Given the description of an element on the screen output the (x, y) to click on. 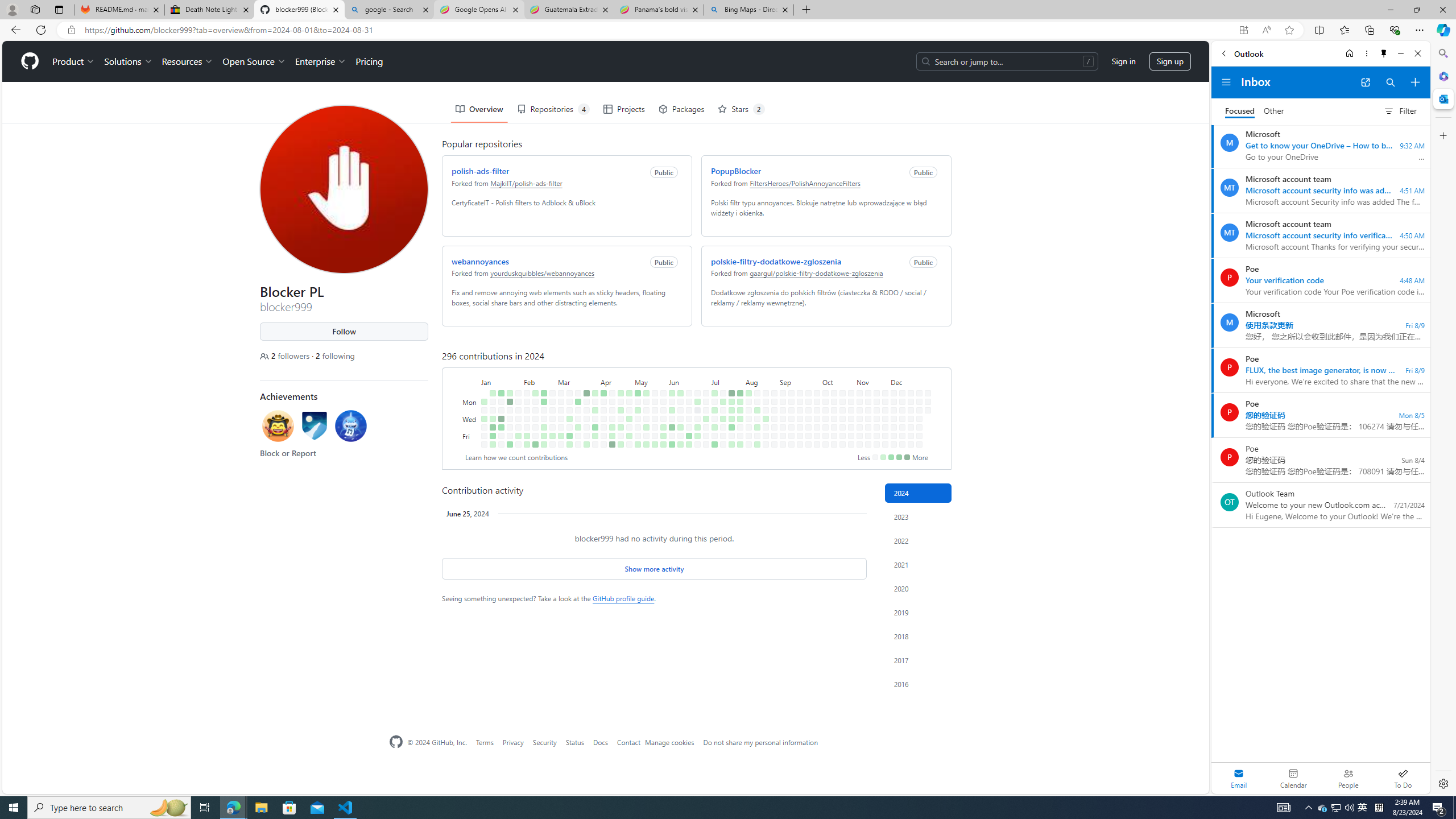
Events-Banner-Ad.jpg (848, 629)
propanama-whitepaper_1_sidead.png (848, 470)
Unpin side pane (1383, 53)
Narayan Ammachchi (400, 470)
Selected mail module (1238, 777)
Read aloud this page (Ctrl+Shift+U) (1243, 29)
Resources (763, 69)
google - Search (389, 9)
Favorites (1344, 29)
Events (718, 69)
 cloud credits (531, 588)
